Given the description of an element on the screen output the (x, y) to click on. 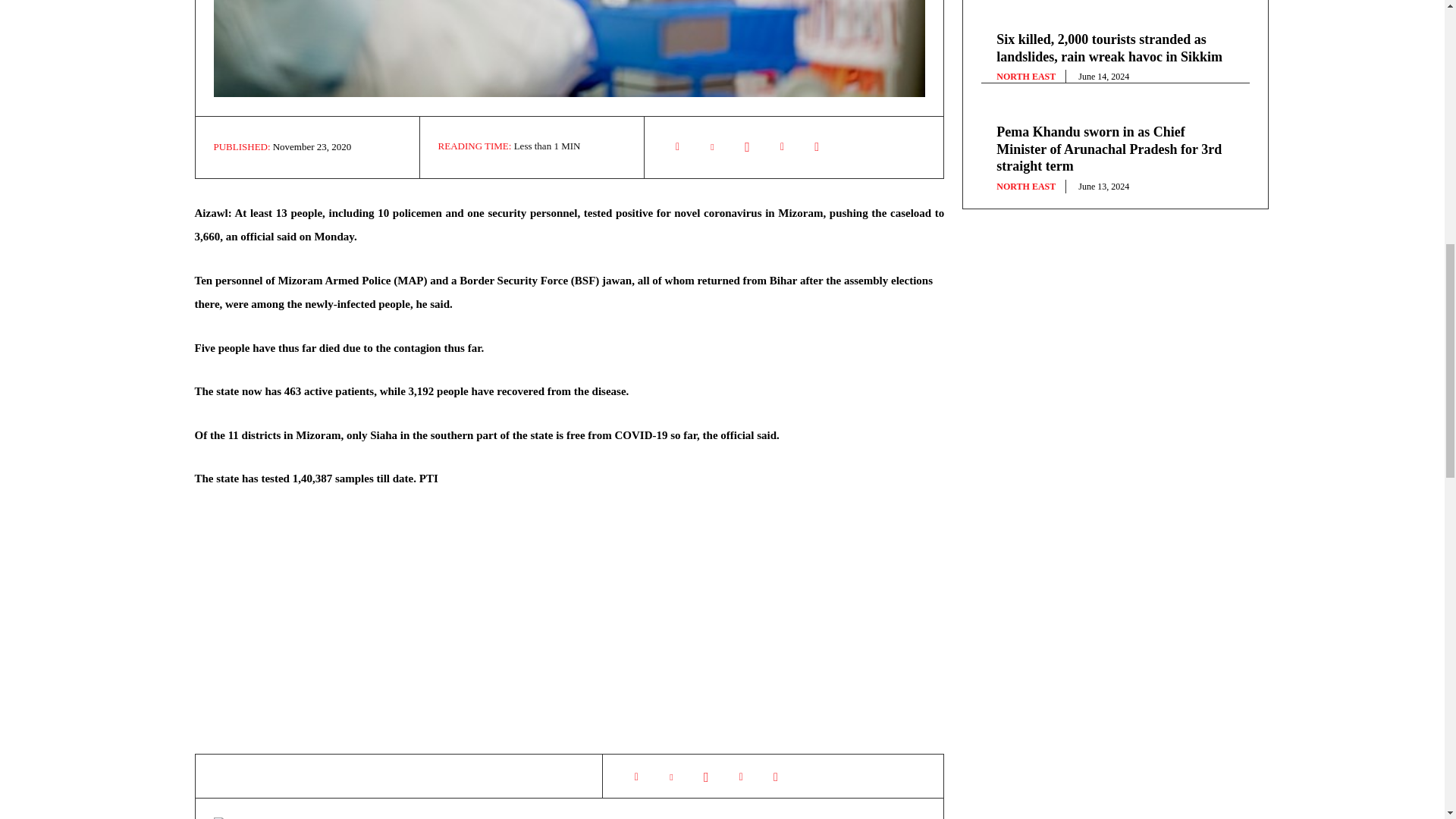
WhatsApp (747, 146)
Telegram (817, 146)
Twitter (670, 777)
Twitter (712, 146)
Facebook (677, 146)
17848 DOH Testing Lab (570, 48)
Facebook (635, 777)
Linkedin (782, 146)
